Given the description of an element on the screen output the (x, y) to click on. 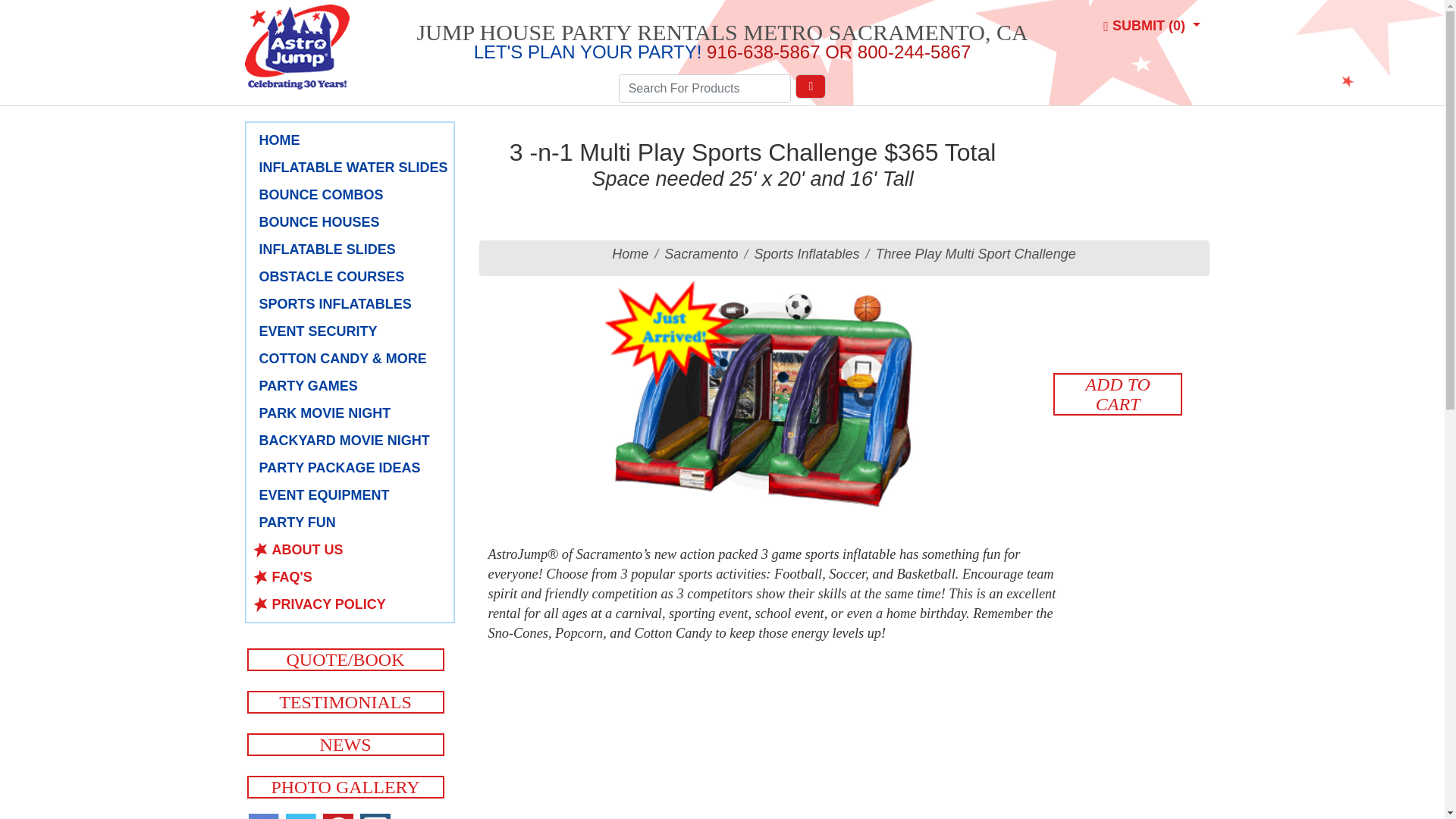
HOME (352, 139)
EVENT EQUIPMENT (352, 495)
JUMP HOUSE PARTY RENTALS METRO SACRAMENTO, CA (721, 32)
PARTY FUN (352, 522)
INFLATABLE WATER SLIDES (352, 167)
SPORTS INFLATABLES (352, 303)
PARK MOVIE NIGHT (352, 413)
INFLATABLE SLIDES (352, 249)
PARTY PACKAGE IDEAS (352, 467)
OBSTACLE COURSES (352, 276)
